Given the description of an element on the screen output the (x, y) to click on. 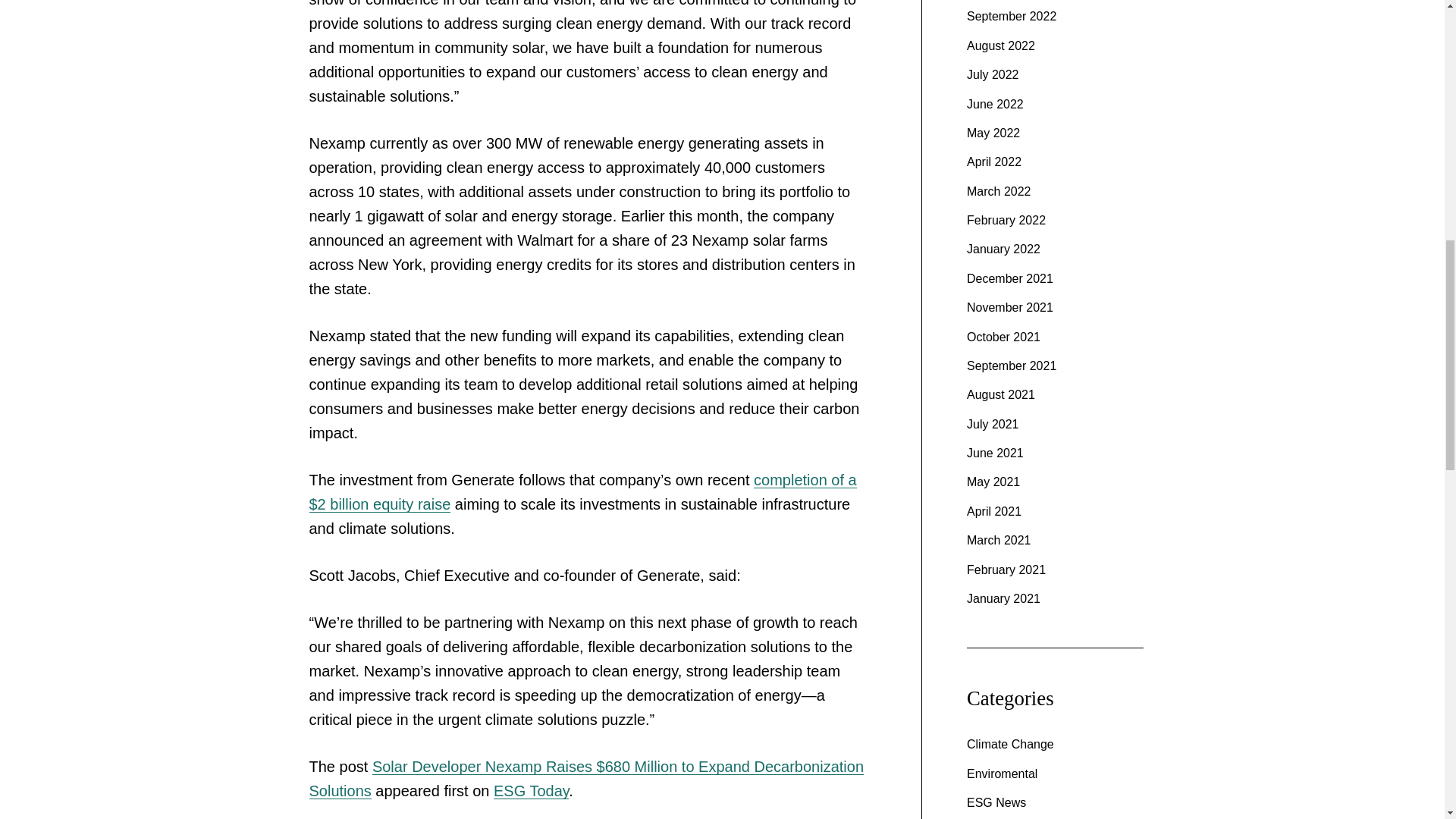
ESG Today (531, 790)
